Given the description of an element on the screen output the (x, y) to click on. 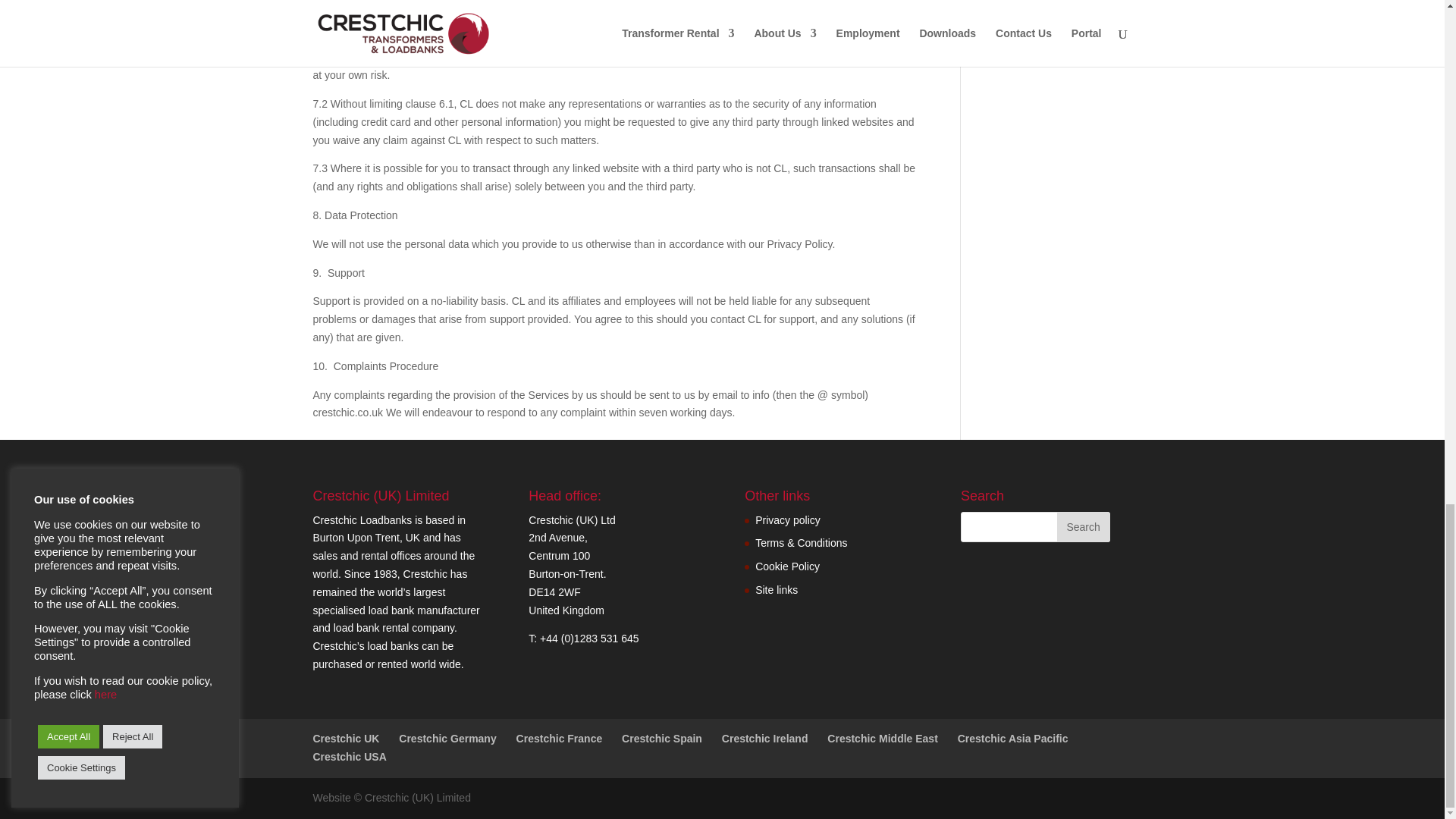
Crestchic Germany (447, 738)
Crestchic Germany (447, 738)
Crestchic Ireland (765, 738)
Crestchic France (559, 738)
Search (1083, 526)
Crestchic France (559, 738)
Crestchic UK (345, 738)
Crestchic Middle East (882, 738)
Crestchic UK (345, 738)
Crestchic Ireland (765, 738)
Cookie Policy (787, 566)
Site links (776, 589)
Crestchic Spain (661, 738)
Crestchic Asia Pacific (1013, 738)
Crestchic Middle East (882, 738)
